Given the description of an element on the screen output the (x, y) to click on. 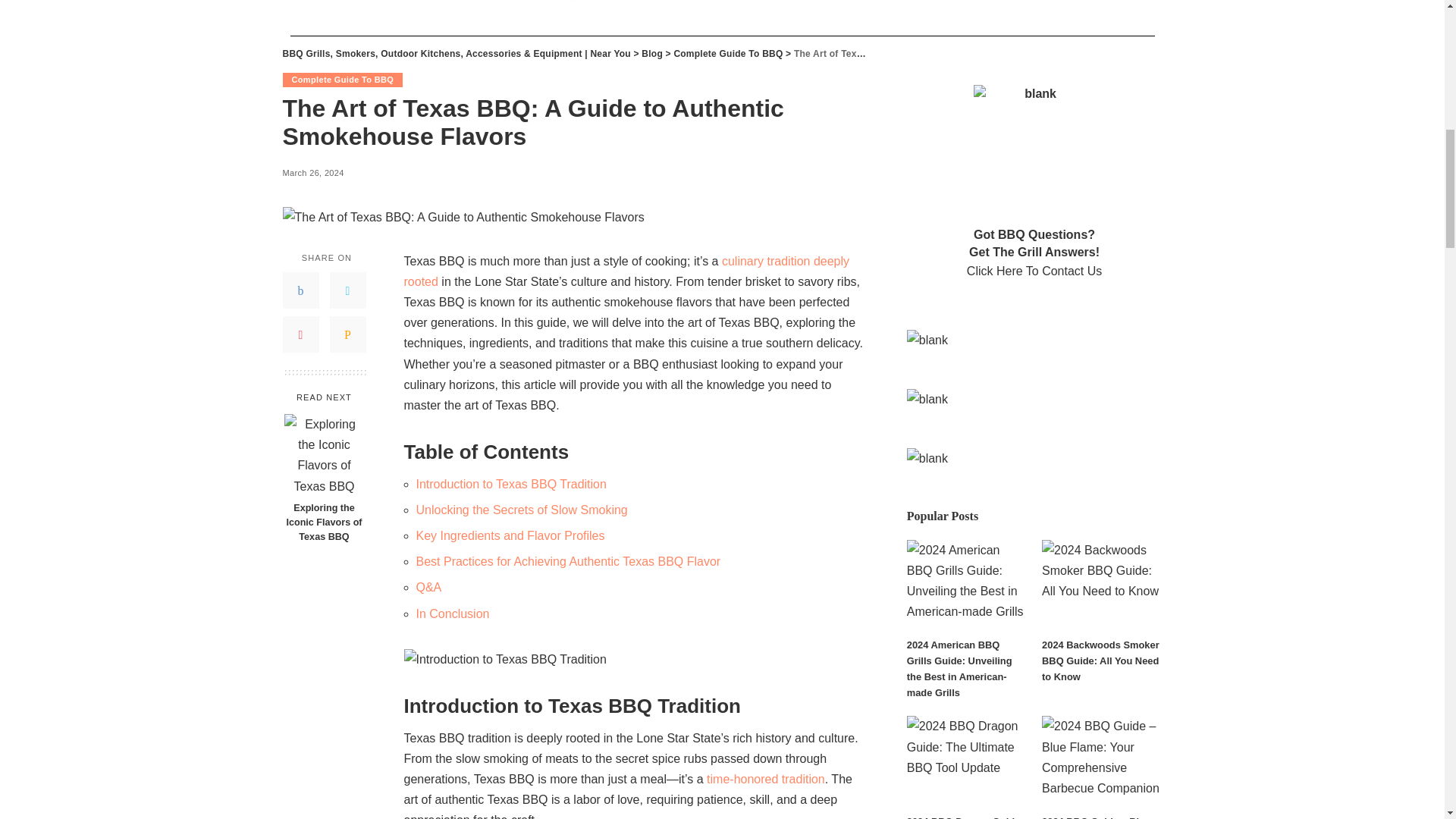
Best Practices for Achieving Authentic Texas BBQ Flavor (567, 561)
Blog (652, 53)
Email (347, 334)
The Authentic Taste of Texas BBQ: A Culinary Tradition (625, 271)
Twitter (347, 289)
culinary tradition deeply rooted (625, 271)
Go to Blog. (652, 53)
2024-03-26T02:25:45-04:00 (312, 173)
In Conclusion (451, 612)
Go to the Complete Guide To BBQ Category archives. (727, 53)
Exploring the Iconic Flavors of Texas BBQ (323, 522)
Complete Guide To BBQ (342, 79)
Pinterest (300, 334)
Complete Guide To BBQ (727, 53)
